Given the description of an element on the screen output the (x, y) to click on. 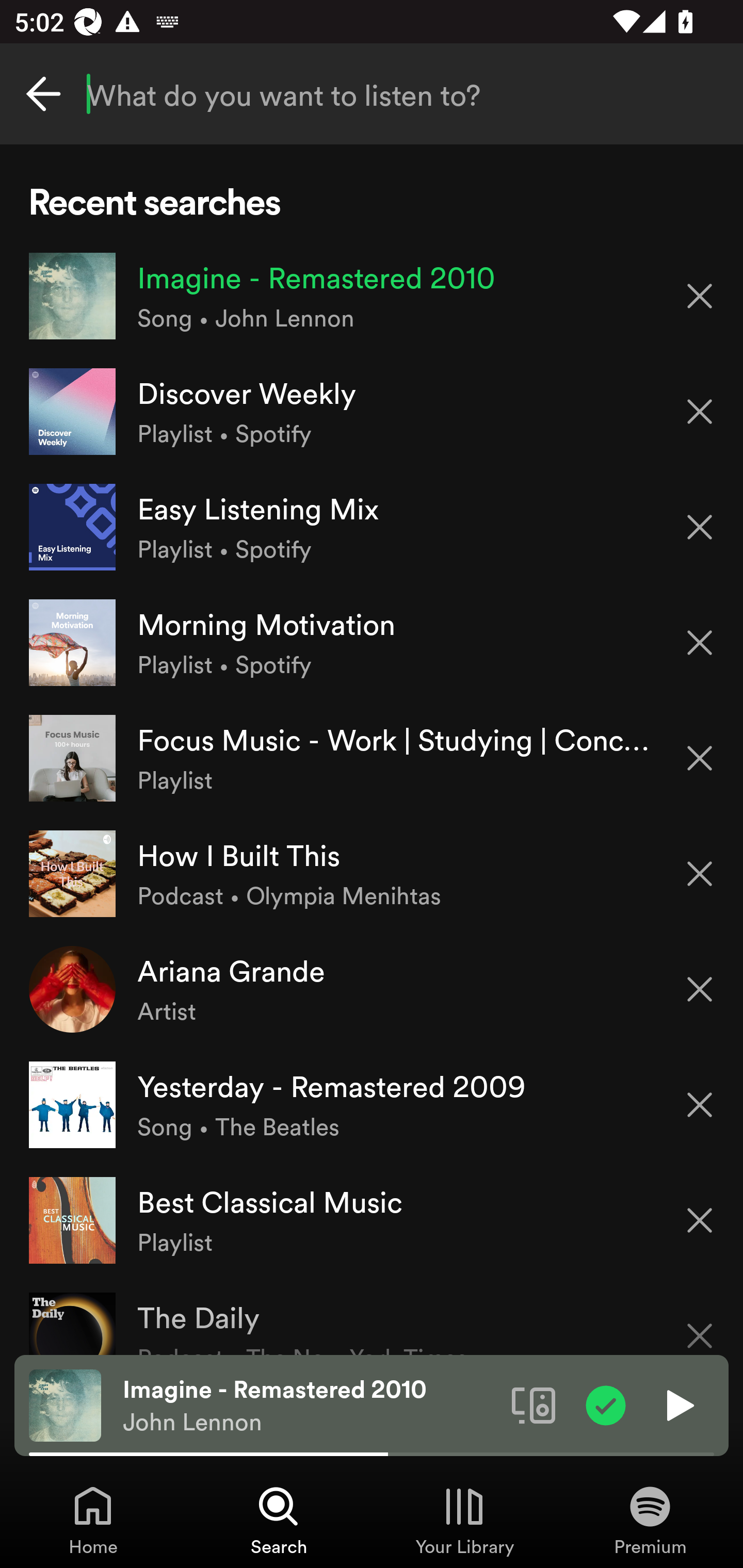
What do you want to listen to? (371, 93)
Cancel (43, 93)
Remove (699, 295)
Discover Weekly Playlist • Spotify Remove (371, 411)
Remove (699, 411)
Easy Listening Mix Playlist • Spotify Remove (371, 526)
Remove (699, 527)
Morning Motivation Playlist • Spotify Remove (371, 642)
Remove (699, 642)
Remove (699, 758)
Remove (699, 874)
Ariana Grande Artist Remove (371, 989)
Remove (699, 989)
Remove (699, 1104)
Best Classical Music Playlist Remove (371, 1219)
Remove (699, 1220)
The Daily Podcast • The New York Times Remove (371, 1315)
Remove (699, 1323)
Imagine - Remastered 2010 John Lennon (309, 1405)
The cover art of the currently playing track (64, 1404)
Connect to a device. Opens the devices menu (533, 1404)
Item added (605, 1404)
Play (677, 1404)
Home, Tab 1 of 4 Home Home (92, 1519)
Search, Tab 2 of 4 Search Search (278, 1519)
Your Library, Tab 3 of 4 Your Library Your Library (464, 1519)
Premium, Tab 4 of 4 Premium Premium (650, 1519)
